Given the description of an element on the screen output the (x, y) to click on. 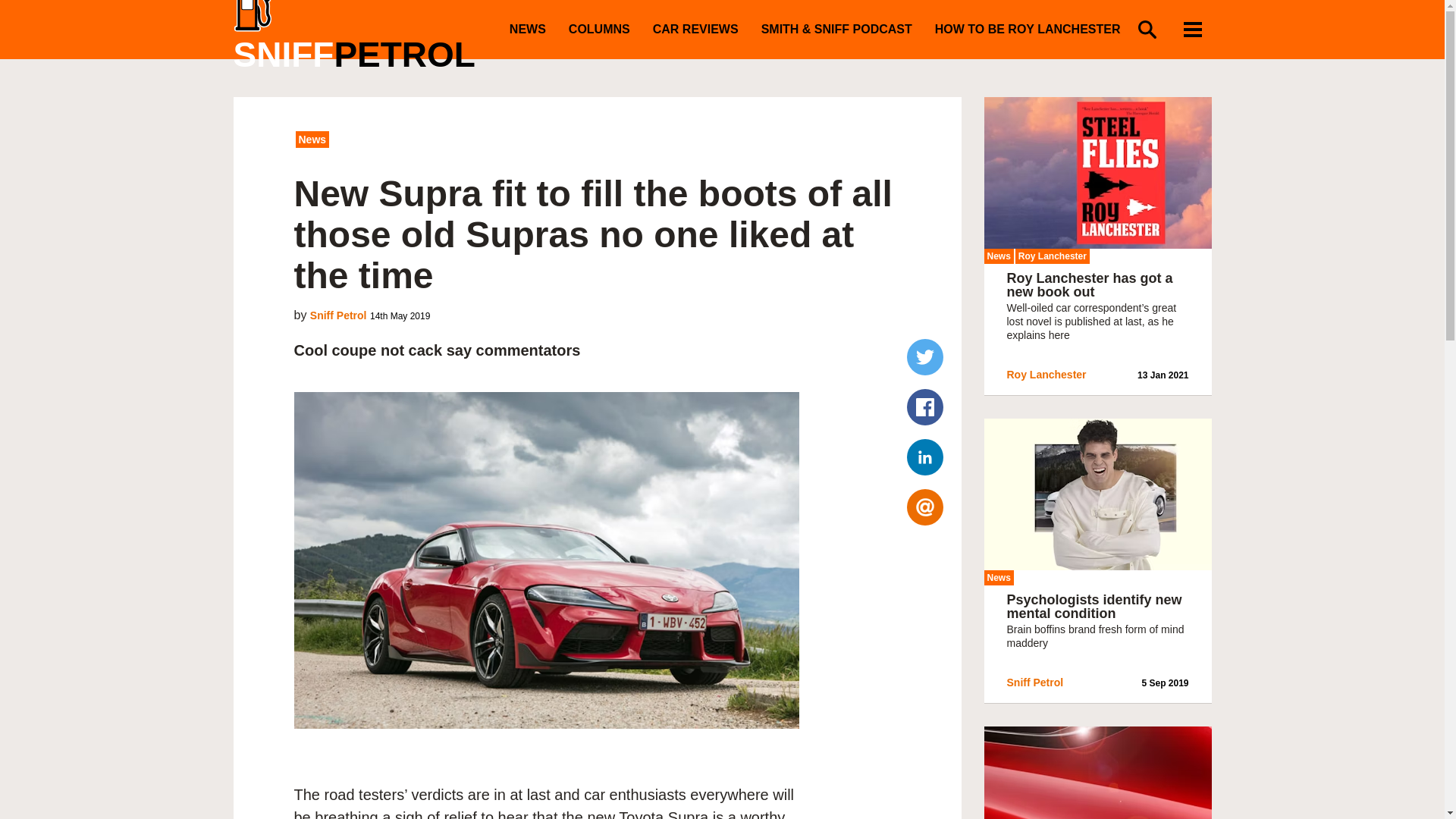
News (312, 139)
SNIFFPETROL (365, 36)
Psychologists identify new mental condition (1094, 606)
Roy Lanchester (1046, 374)
Roy Lanchester has got a new book out (1090, 285)
Roy Lanchester (1051, 255)
COLUMNS (599, 29)
Sniff Petrol (1035, 682)
News (998, 577)
Sniff Petrol (338, 315)
News (998, 255)
HOW TO BE ROY LANCHESTER (1027, 29)
CAR REVIEWS (695, 29)
